Given the description of an element on the screen output the (x, y) to click on. 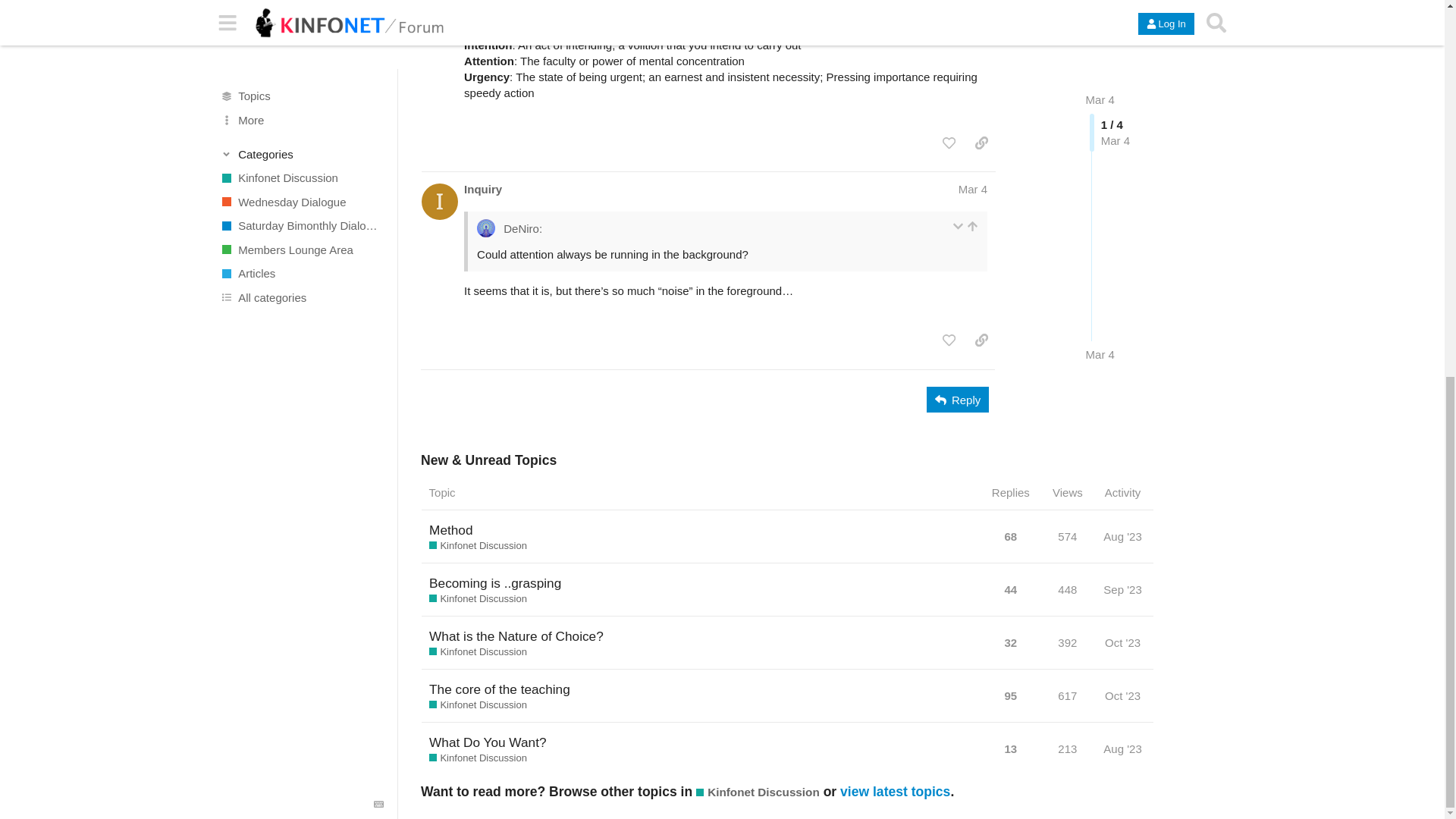
Keyboard Shortcuts (378, 110)
